Given the description of an element on the screen output the (x, y) to click on. 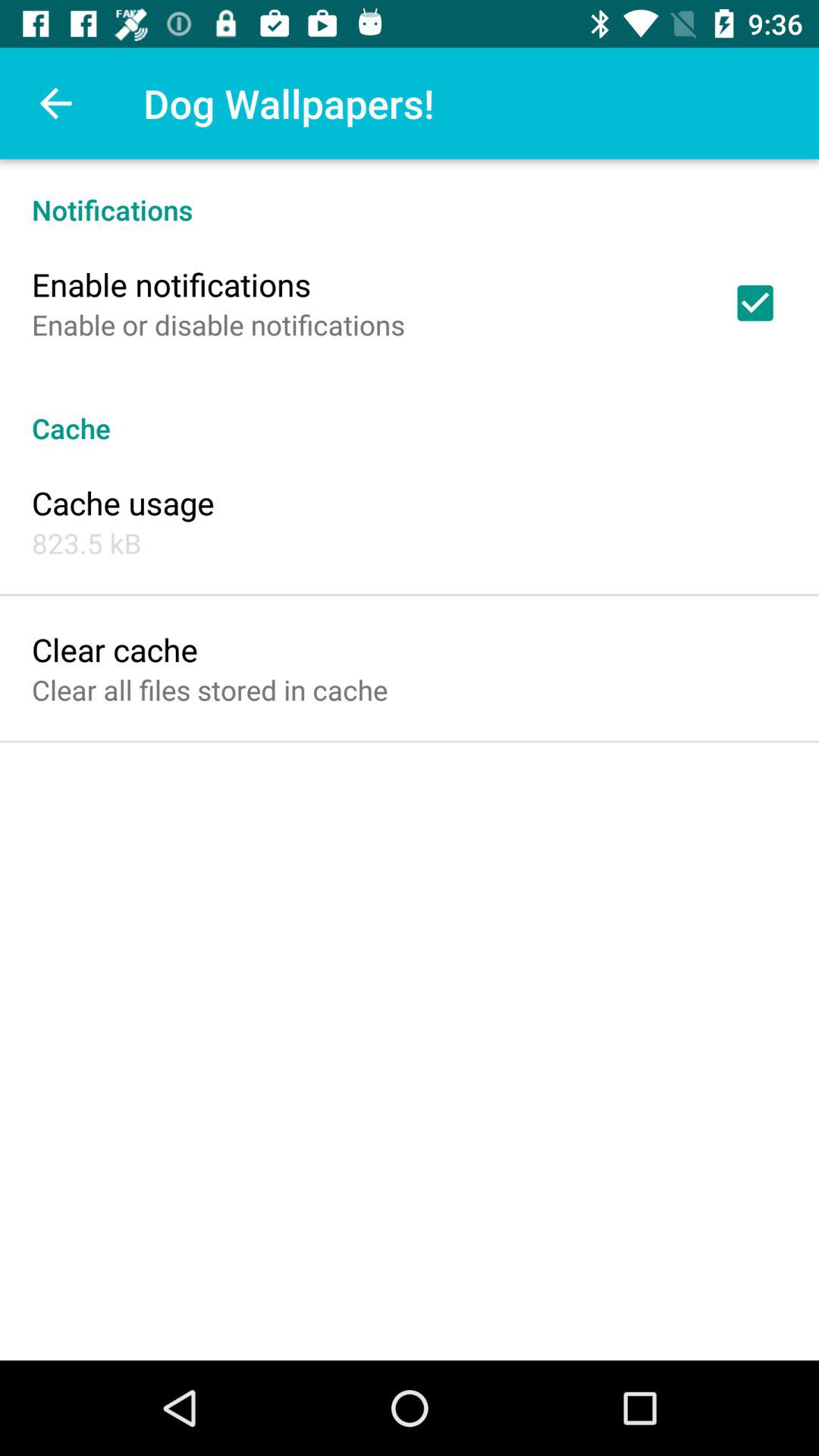
choose icon to the right of enable or disable icon (755, 302)
